Given the description of an element on the screen output the (x, y) to click on. 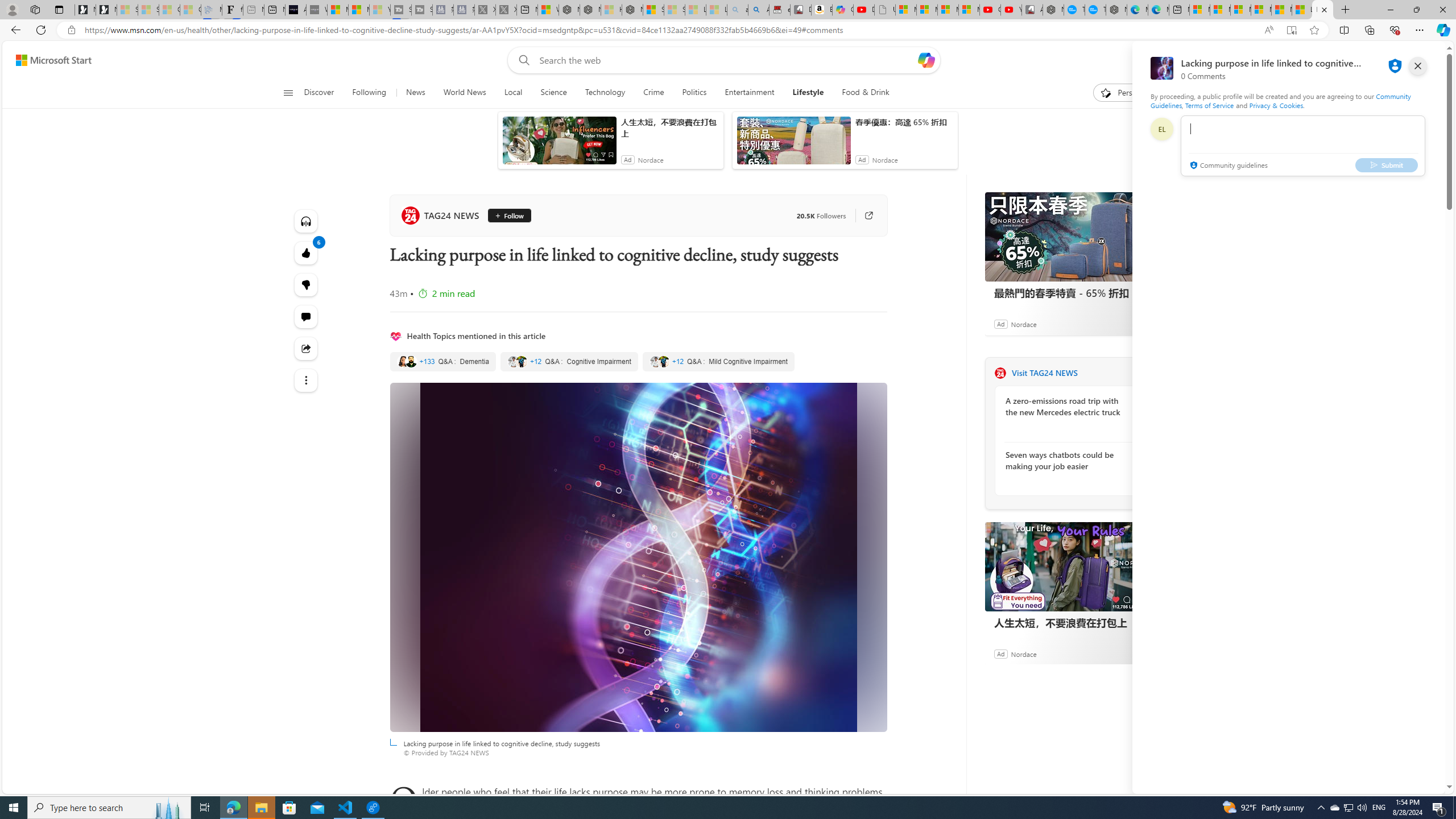
Open navigation menu (287, 92)
Personalize (1128, 92)
World News (464, 92)
Science (553, 92)
Listen to this article (305, 221)
Lifestyle (808, 92)
